Given the description of an element on the screen output the (x, y) to click on. 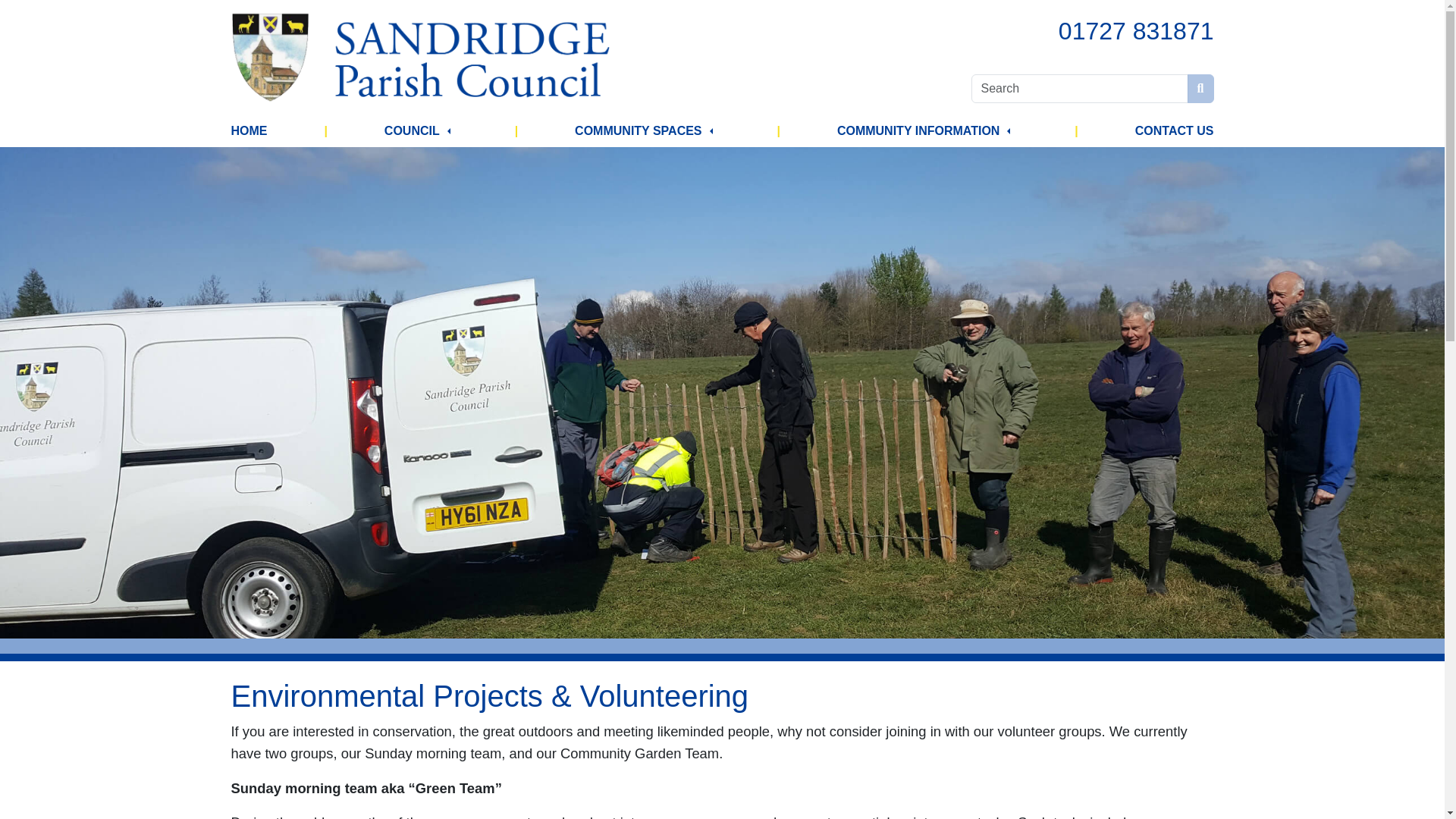
HOME (248, 131)
COUNCIL (411, 131)
COMMUNITY SPACES (638, 131)
COMMUNITY INFORMATION (918, 131)
01727 831871 (1136, 31)
